Given the description of an element on the screen output the (x, y) to click on. 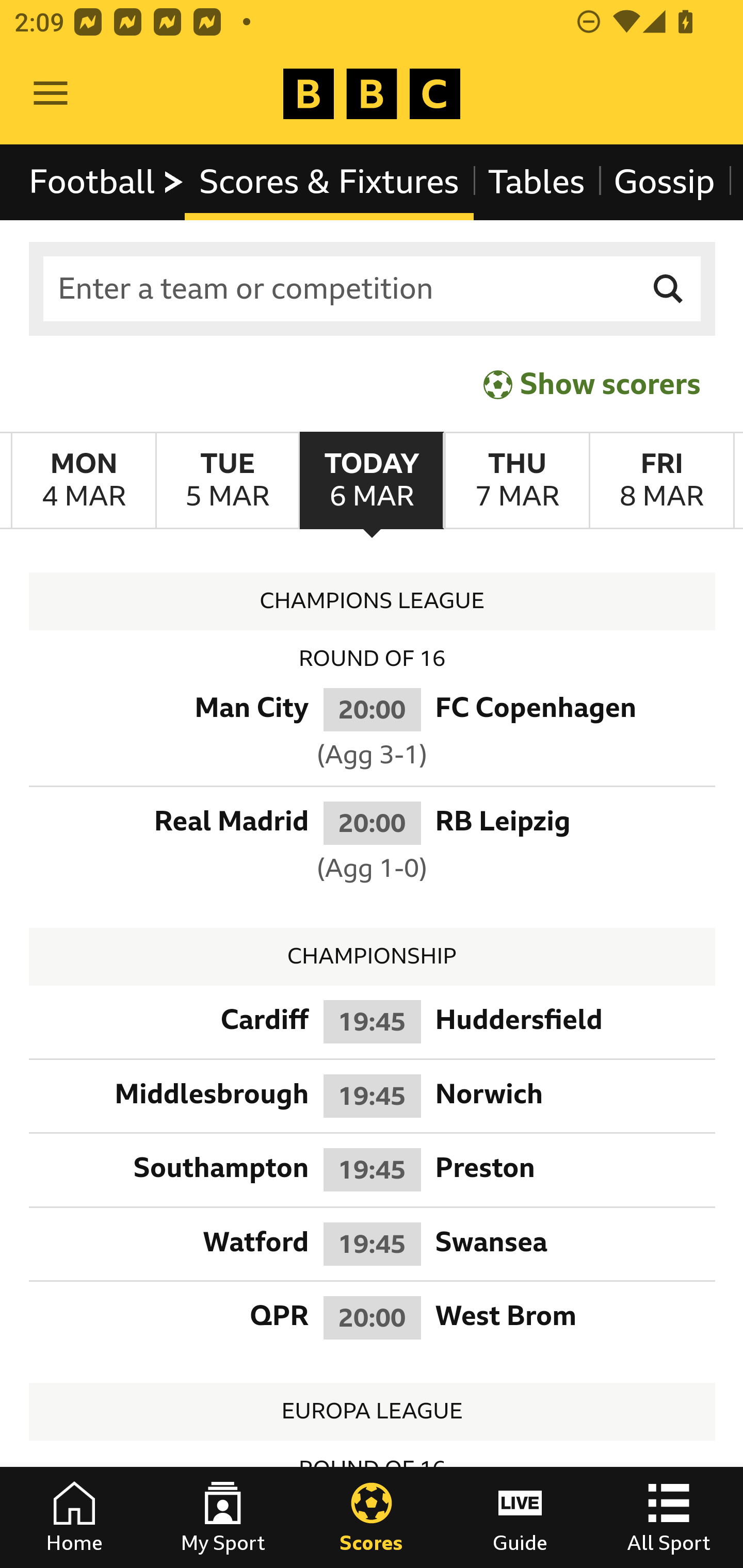
Open Menu (50, 93)
Football  (106, 181)
Scores & Fixtures (329, 181)
Tables (536, 181)
Gossip (664, 181)
Search (669, 289)
Show scorers (591, 383)
MondayMarch 4th Monday March 4th (83, 480)
TuesdayMarch 5th Tuesday March 5th (227, 480)
ThursdayMarch 7th Thursday March 7th (516, 480)
FridayMarch 8th Friday March 8th (661, 480)
Home (74, 1517)
My Sport (222, 1517)
Guide (519, 1517)
All Sport (668, 1517)
